Given the description of an element on the screen output the (x, y) to click on. 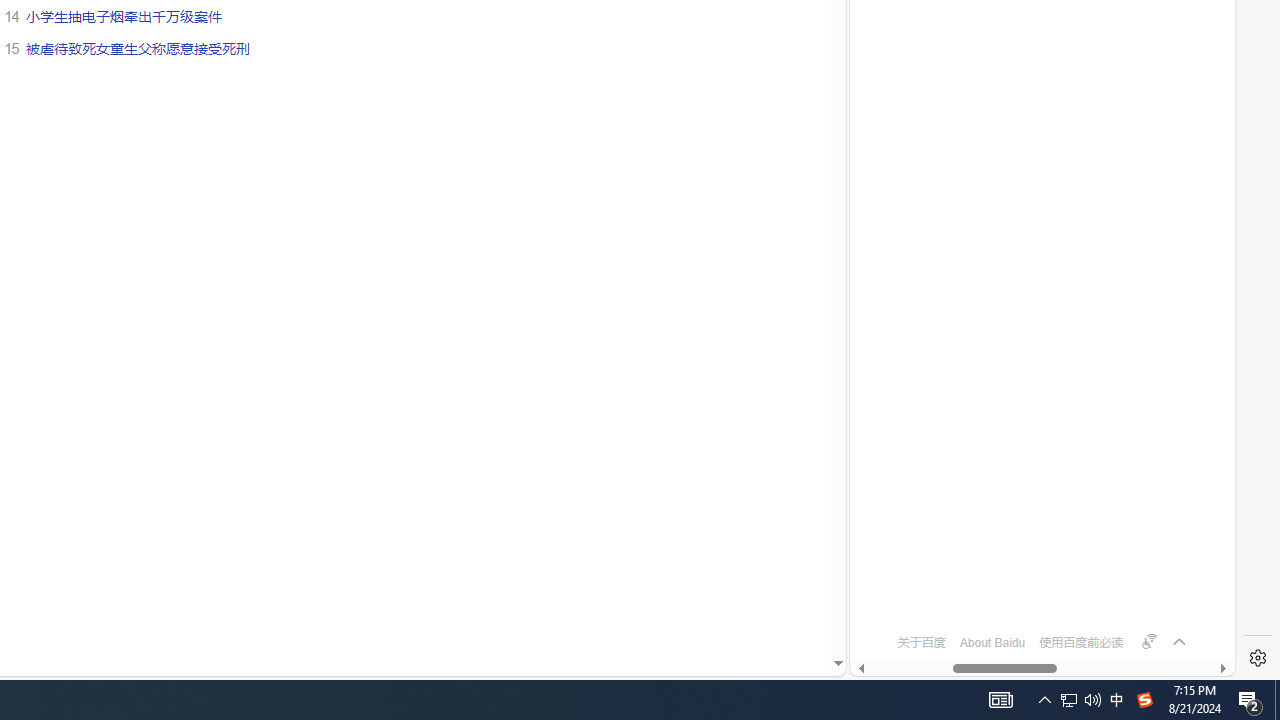
Actions for this site (1149, 184)
Global web icon (888, 587)
About Baidu (992, 642)
OFTV (1034, 587)
